Given the description of an element on the screen output the (x, y) to click on. 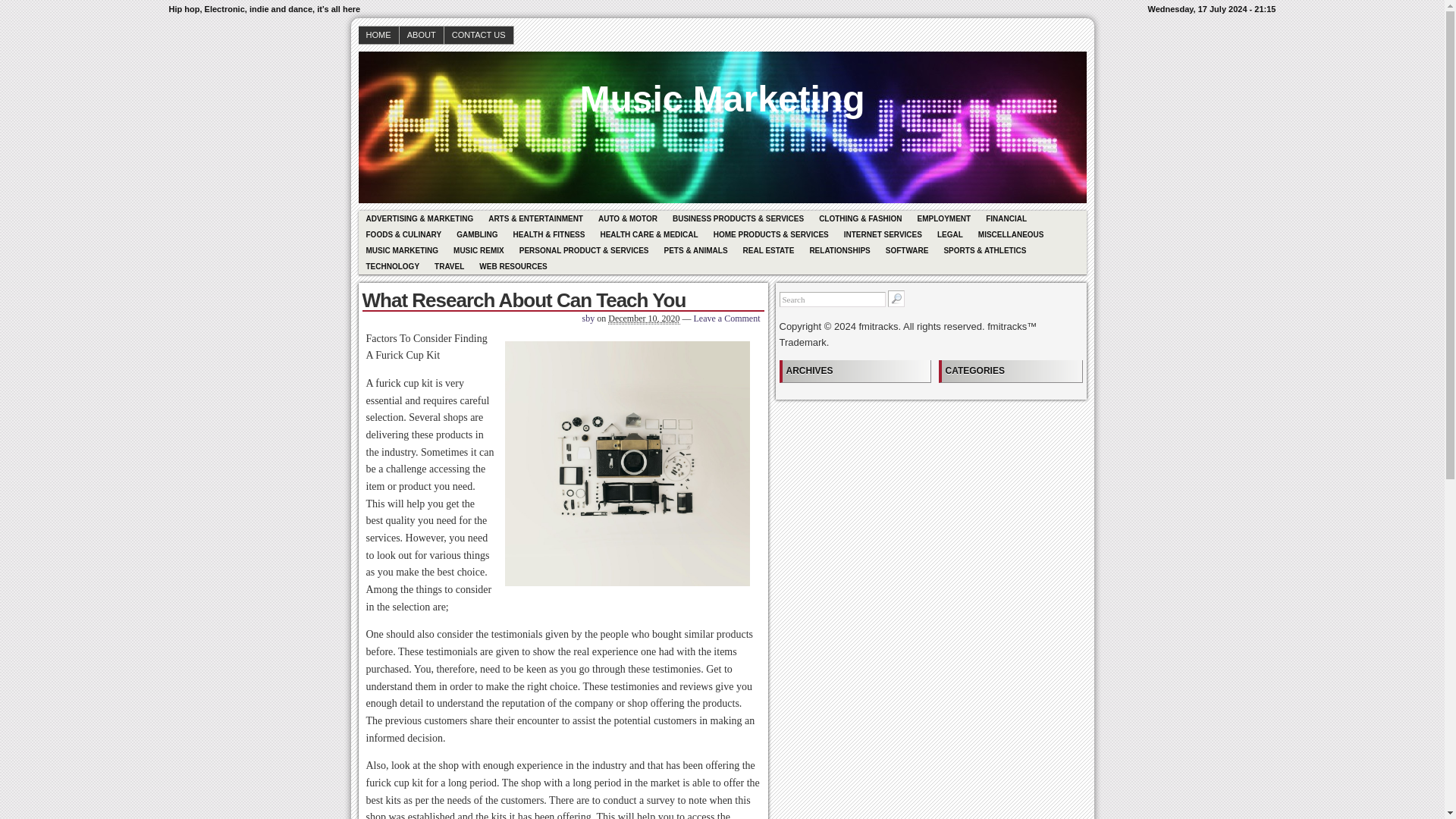
sby (588, 317)
MISCELLANEOUS (1011, 234)
CONTACT US (478, 34)
TECHNOLOGY (392, 266)
SOFTWARE (906, 250)
ABOUT (421, 34)
INTERNET SERVICES (882, 234)
LEGAL (950, 234)
December 10, 2020 - 4:43 am (643, 318)
Search (831, 299)
MUSIC MARKETING (401, 250)
REAL ESTATE (768, 250)
site information (721, 9)
View all posts by sby (588, 317)
MUSIC REMIX (478, 250)
